Given the description of an element on the screen output the (x, y) to click on. 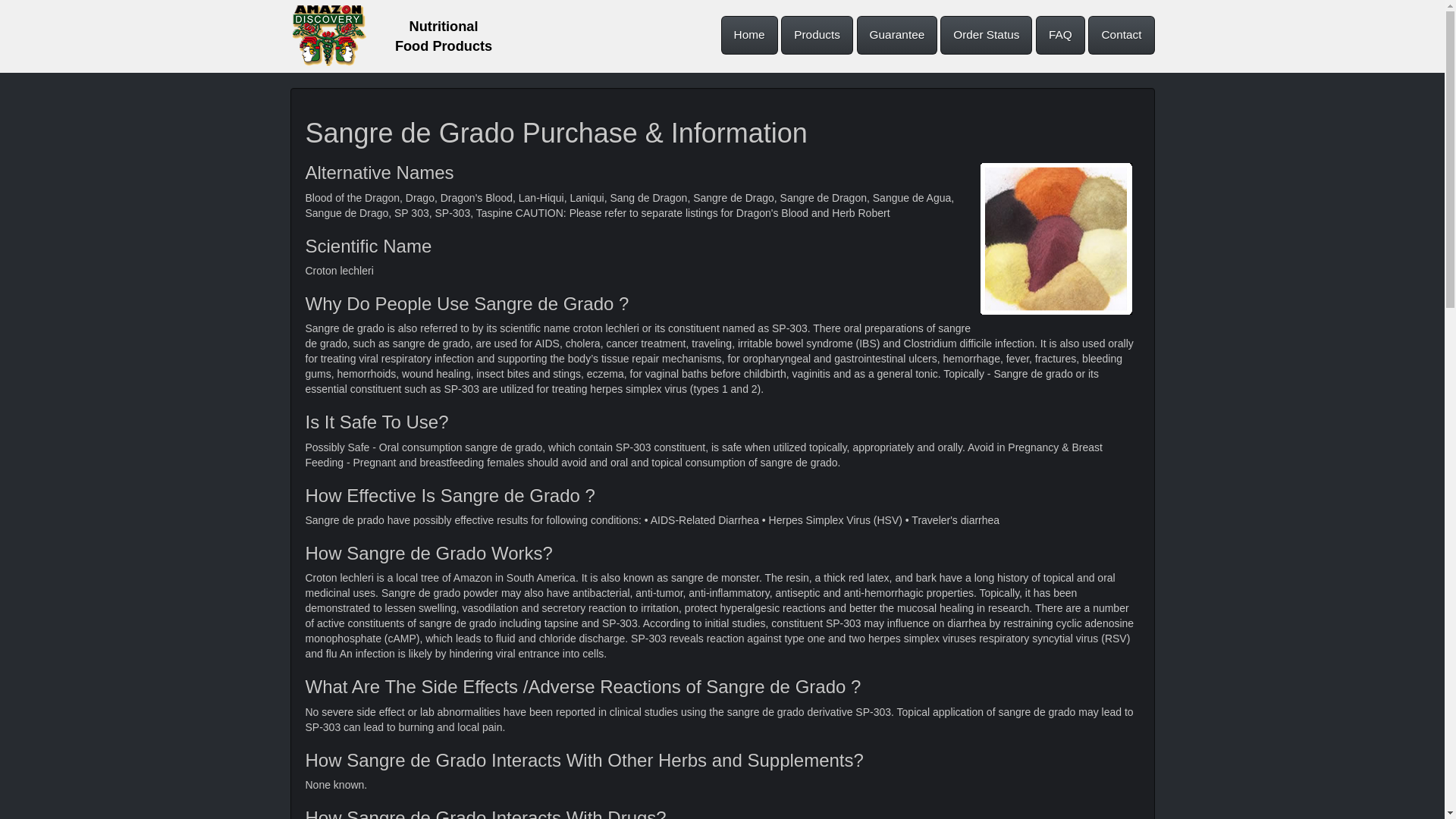
Order Status (986, 34)
Home (748, 34)
Contact (1120, 34)
Products (816, 34)
Nutritional Food Products home page (327, 35)
FAQ (1059, 34)
Guarantee (897, 34)
